Given the description of an element on the screen output the (x, y) to click on. 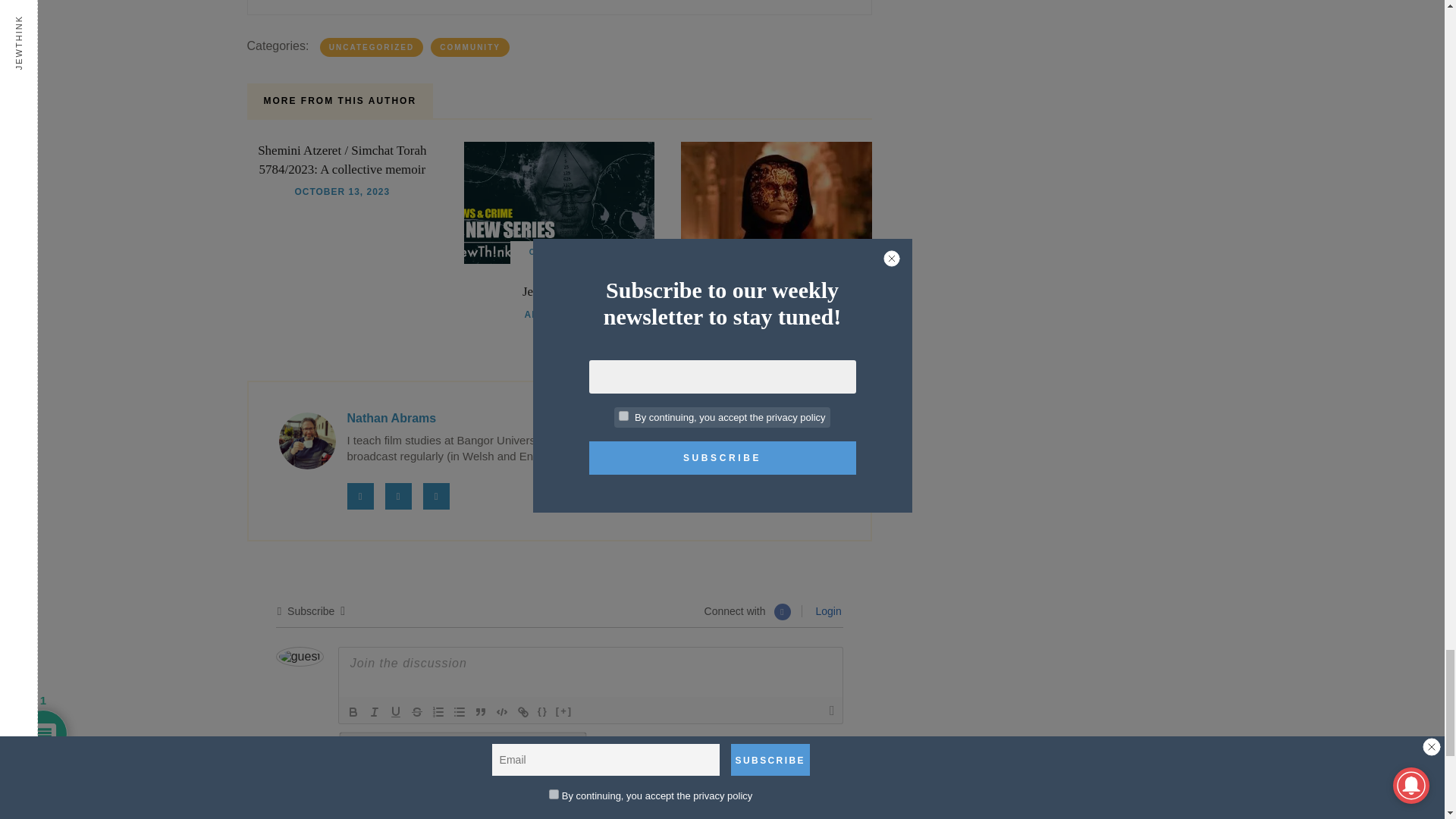
Post Comment (777, 754)
Underline (395, 711)
Blockquote (481, 711)
Ordered List (438, 711)
Spoiler (563, 711)
Link (523, 711)
Strike (417, 711)
Source Code (542, 711)
Posts by Nathan Abrams (391, 418)
Italic (374, 711)
Bold (353, 711)
Code Block (502, 711)
Unordered List (459, 711)
